Given the description of an element on the screen output the (x, y) to click on. 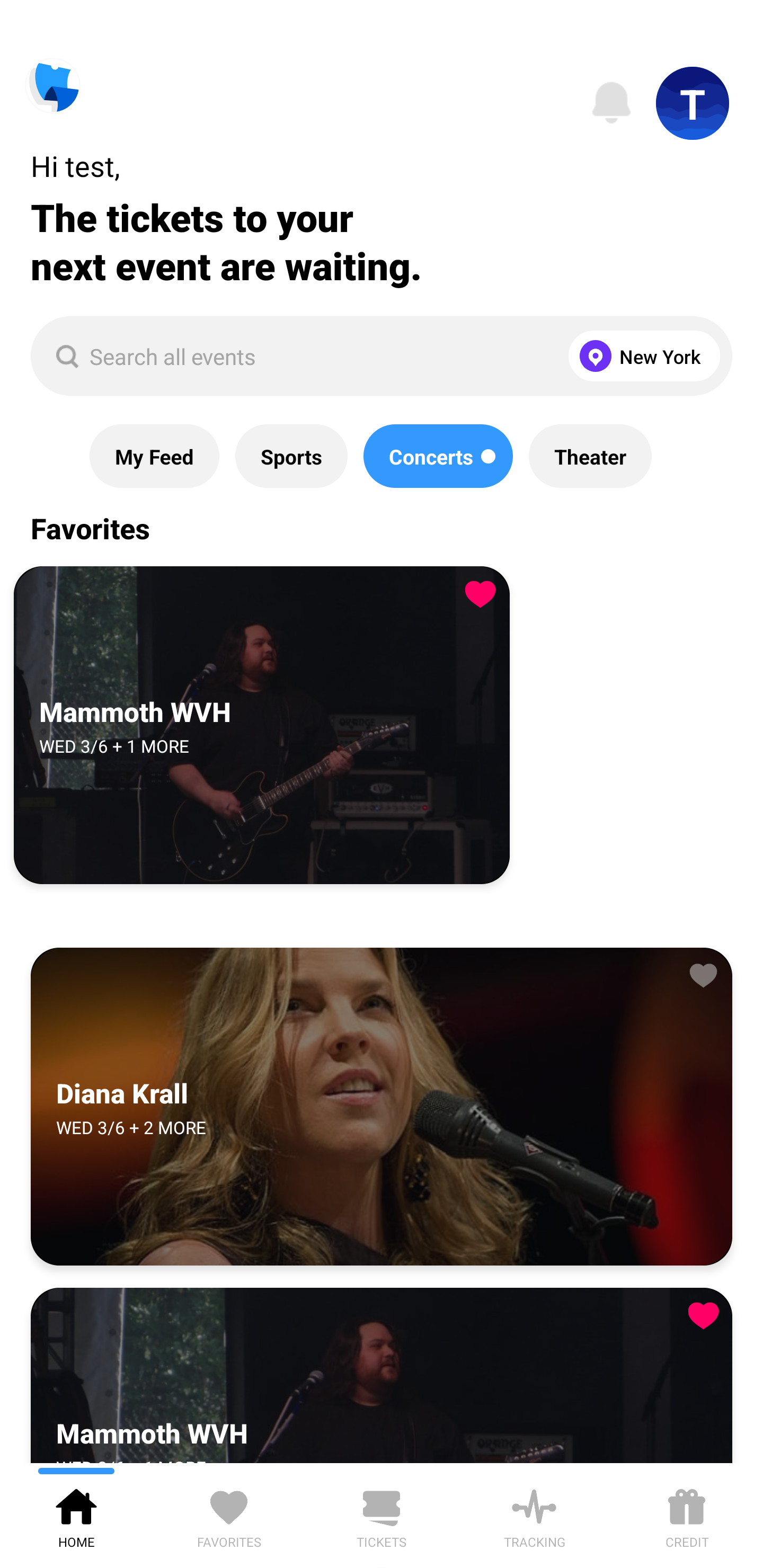
T (692, 103)
New York (640, 355)
My Feed (154, 455)
Sports (291, 455)
Concerts (437, 455)
Theater (589, 455)
HOME (76, 1515)
FAVORITES (228, 1515)
TICKETS (381, 1515)
TRACKING (533, 1515)
CREDIT (686, 1515)
